Given the description of an element on the screen output the (x, y) to click on. 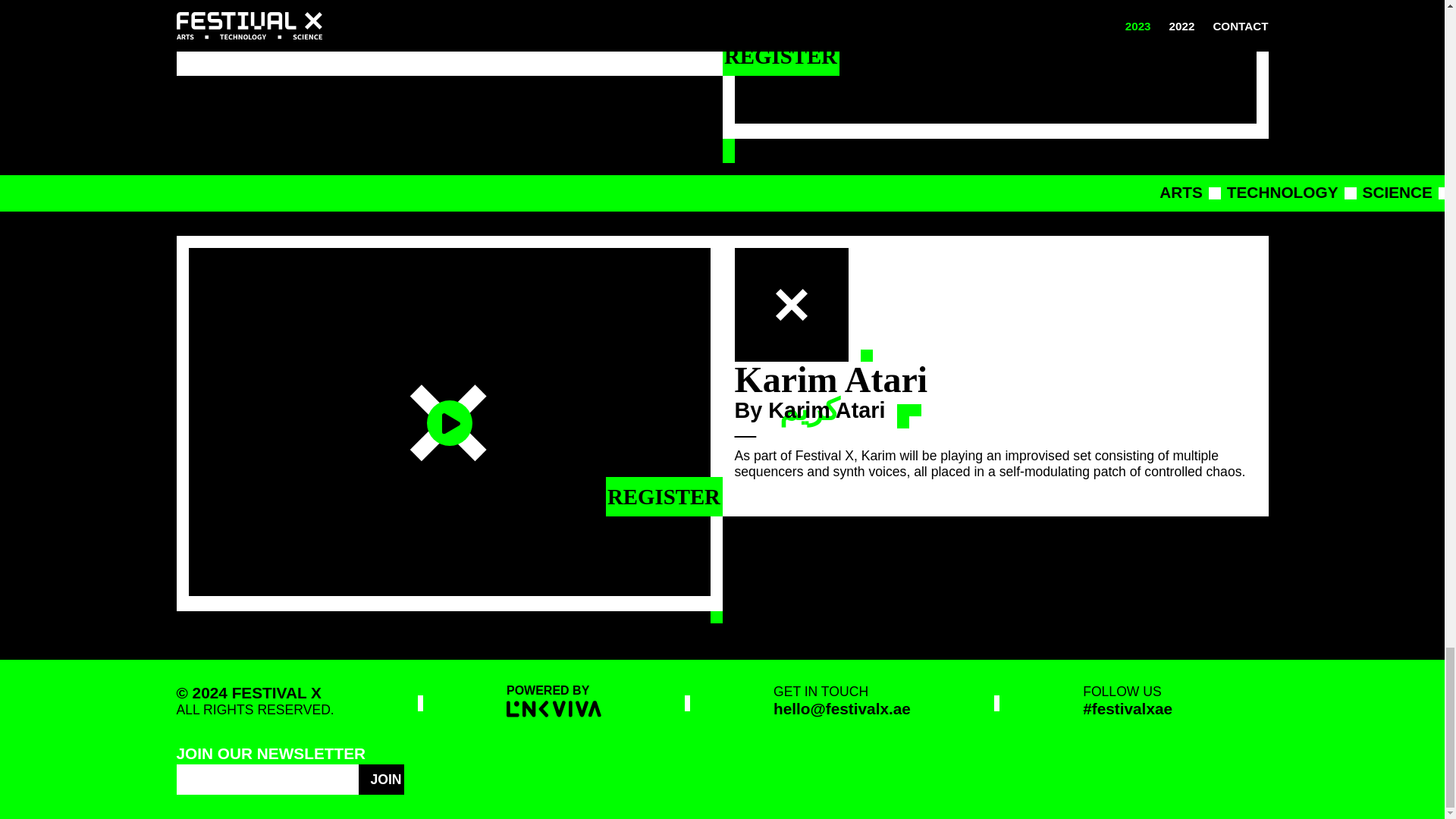
REGISTER (663, 496)
REGISTER (780, 56)
"Off The Record" by Joe Najm (994, 63)
Join (380, 779)
